Given the description of an element on the screen output the (x, y) to click on. 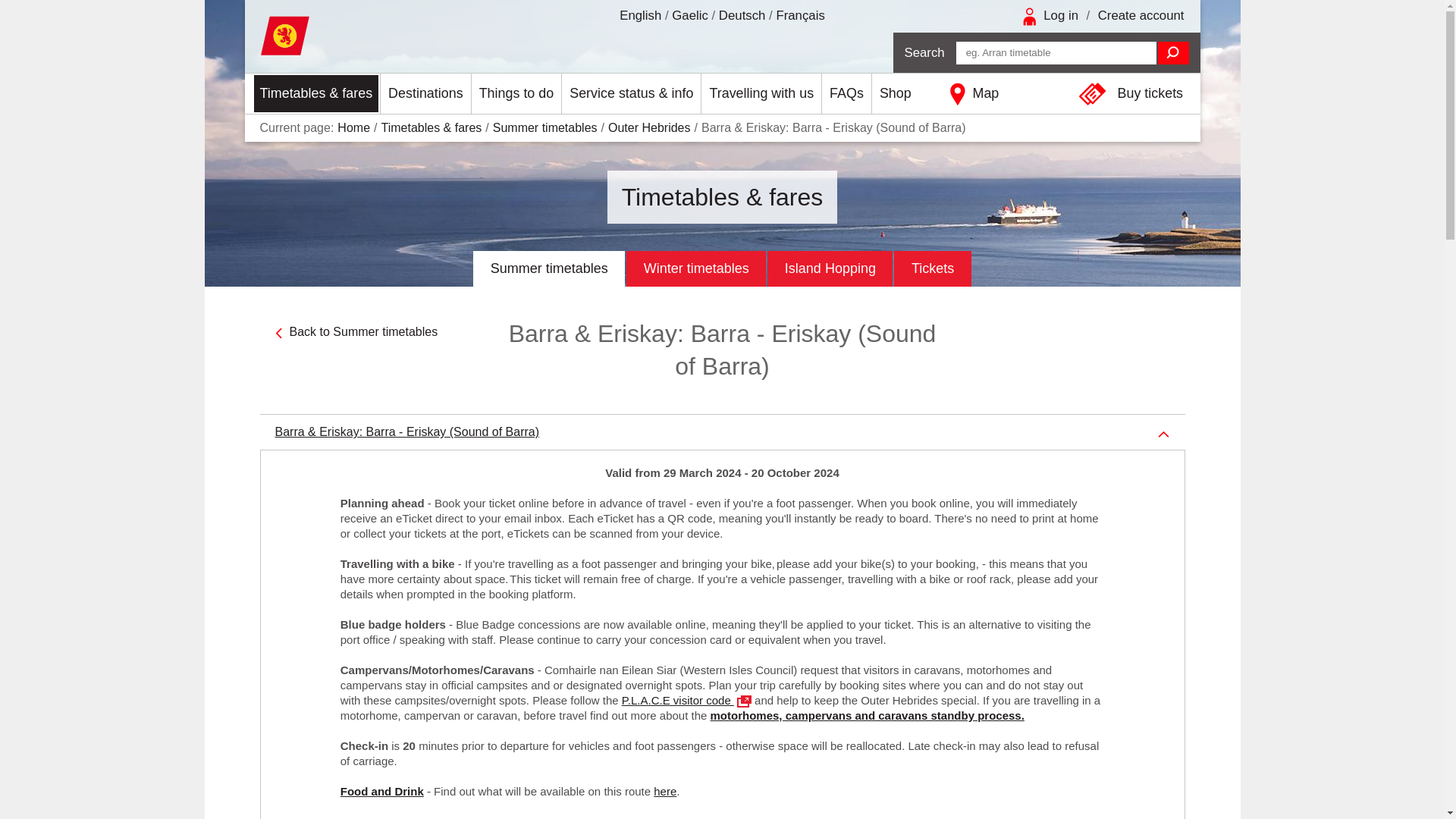
Gaelic (689, 15)
Shop (895, 93)
Link to homepage (401, 35)
Create account (1141, 15)
Things to do (516, 93)
Motorhome and Campervan Guide Outer Hebrides Tourism (686, 699)
Deutsch (742, 15)
Travelling with us (761, 93)
Log in (1060, 15)
Map (1006, 93)
